Given the description of an element on the screen output the (x, y) to click on. 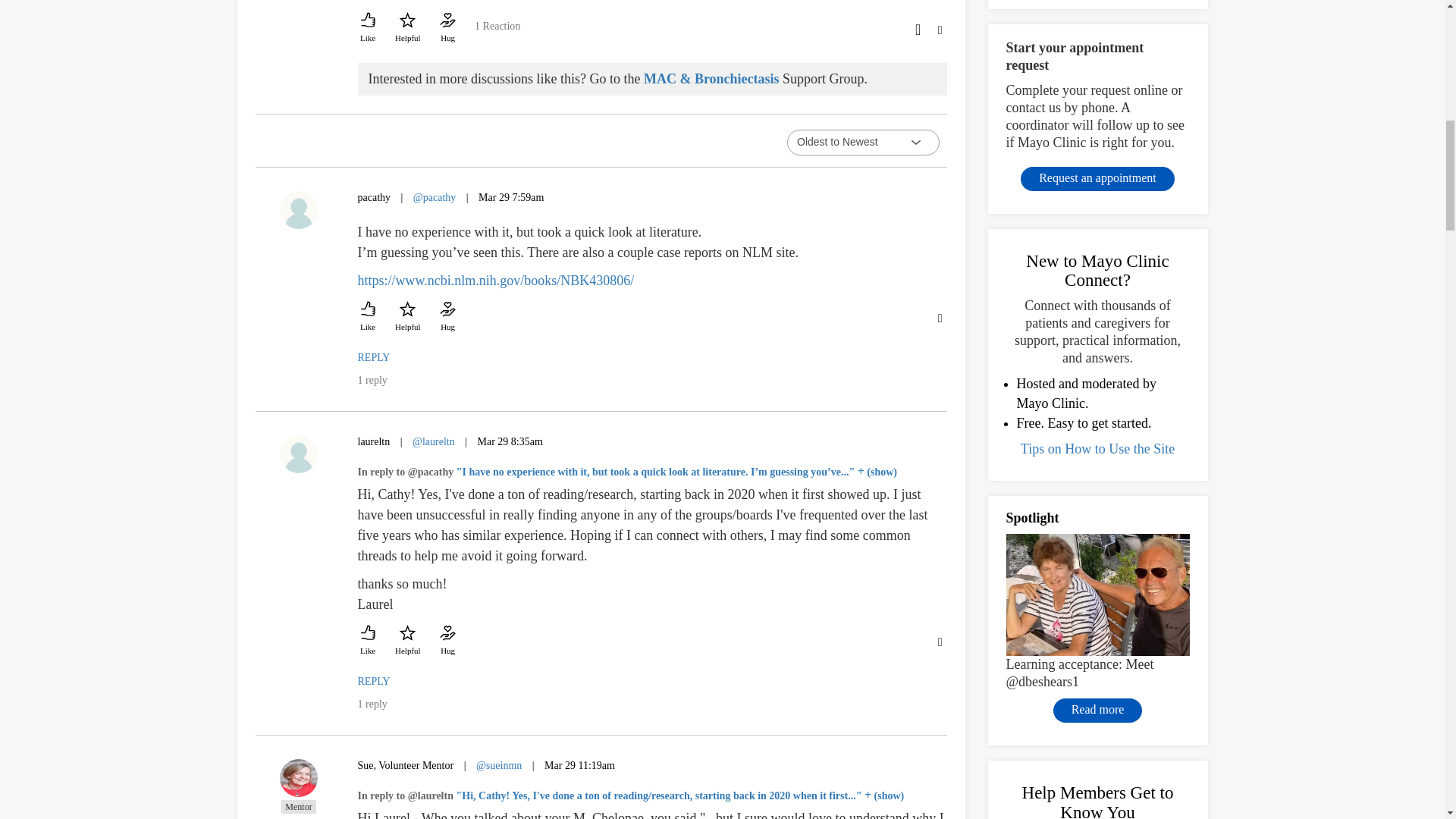
1 reply (372, 379)
Manage notification settings for this discussion (916, 27)
See who reacted to this discussion (496, 31)
REPLY (374, 357)
1 Reaction (496, 31)
